Given the description of an element on the screen output the (x, y) to click on. 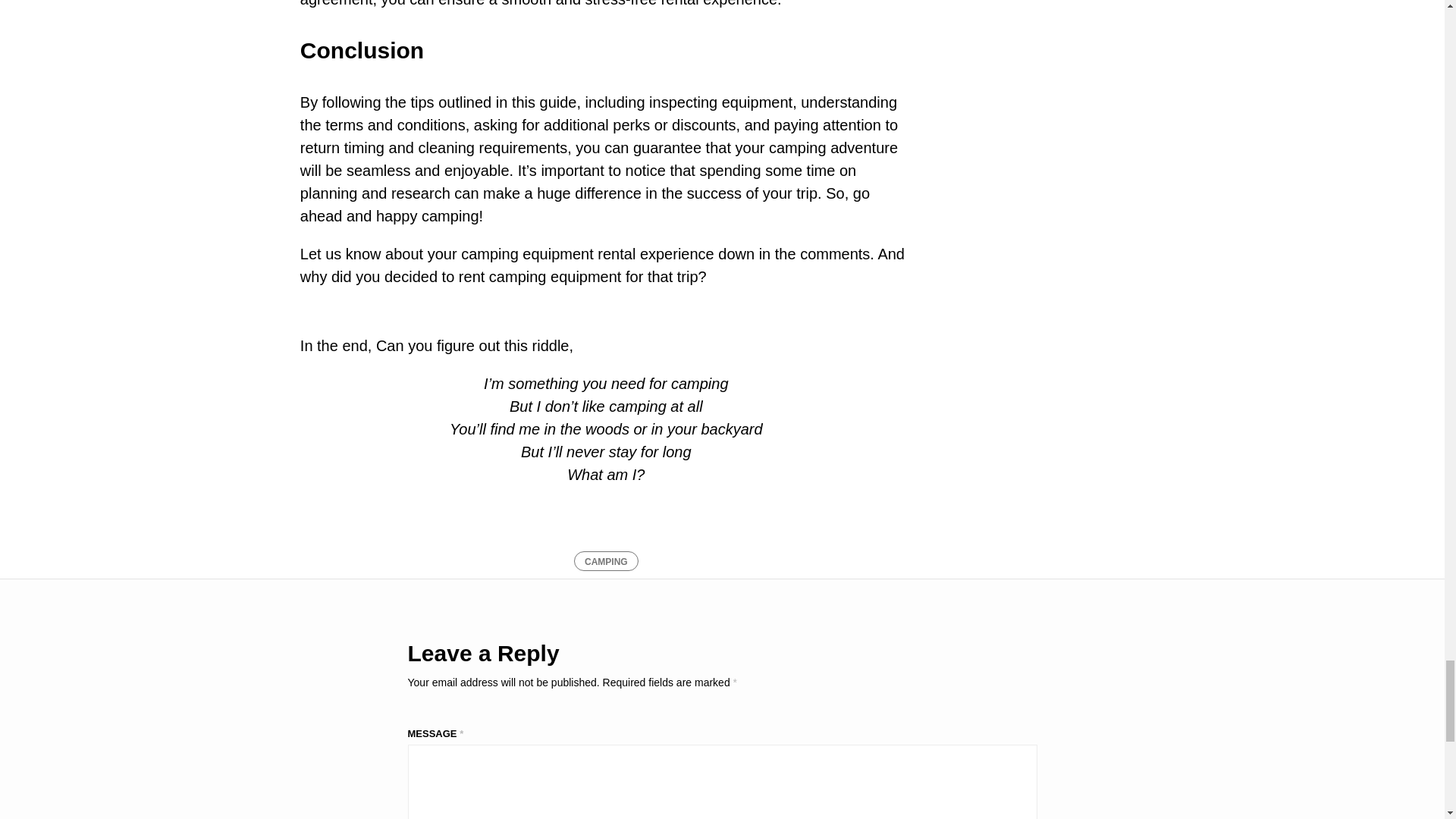
CAMPING (606, 560)
